Given the description of an element on the screen output the (x, y) to click on. 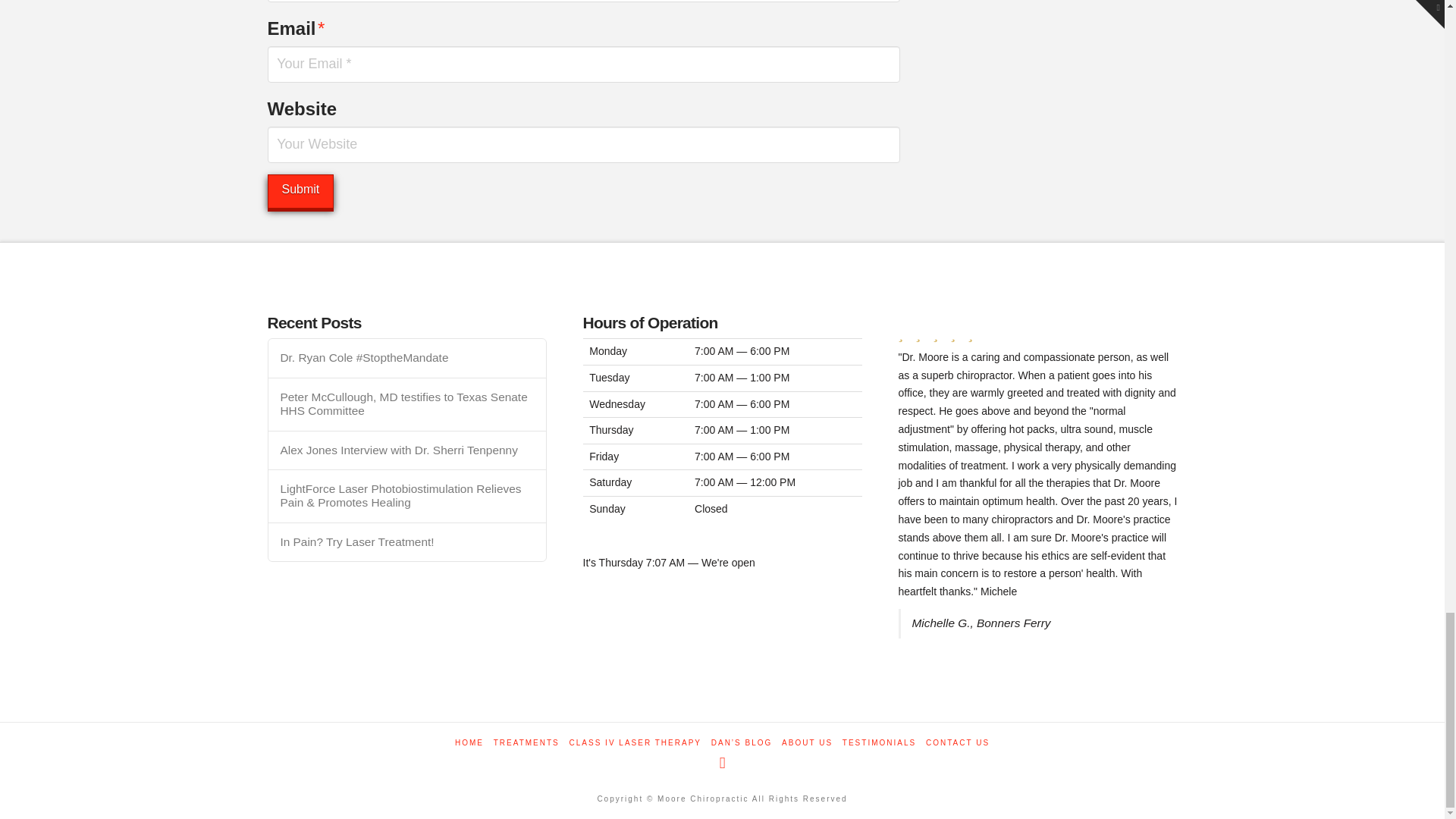
Submit (299, 191)
Submit (299, 191)
